Given the description of an element on the screen output the (x, y) to click on. 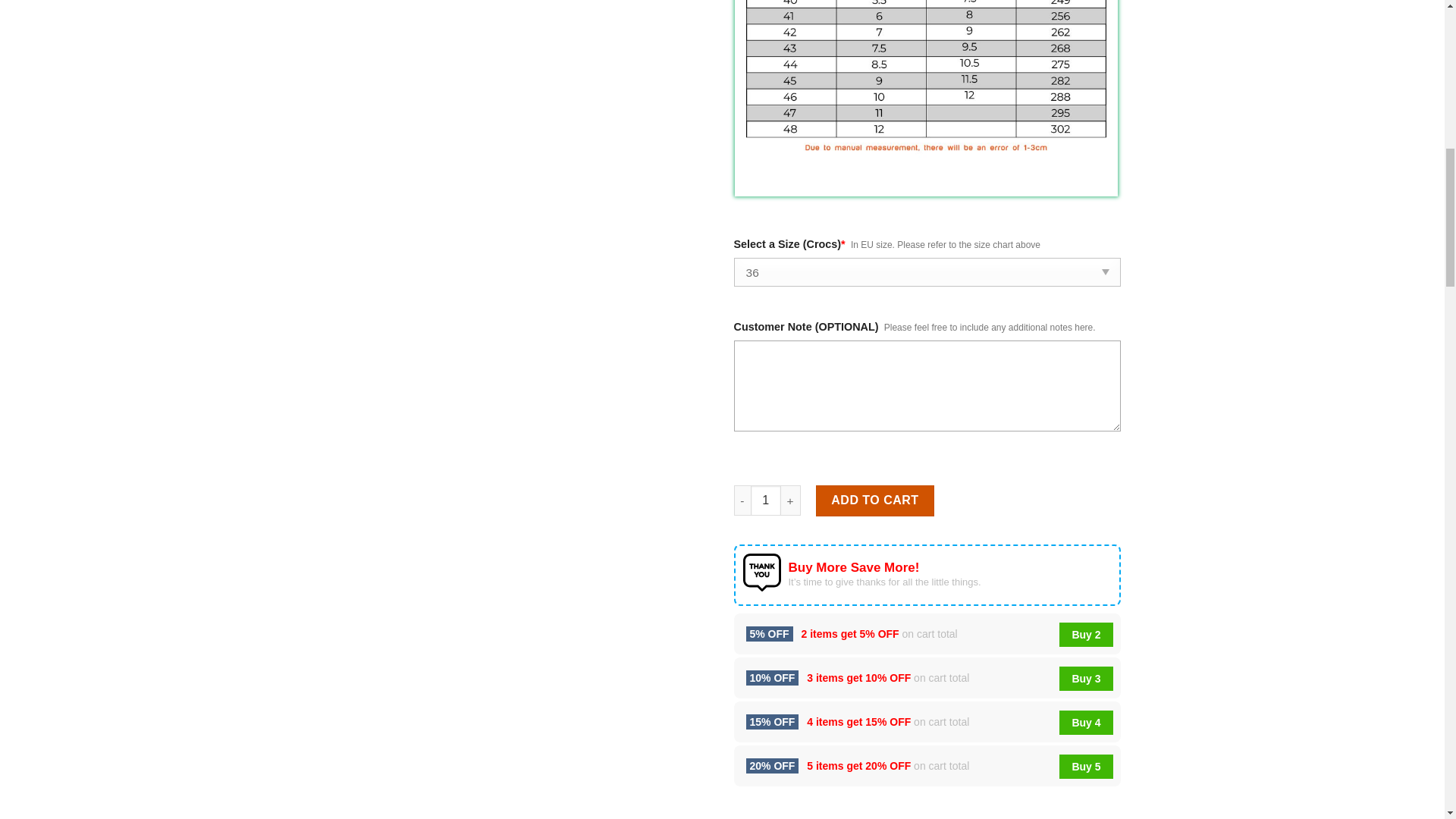
Qty (765, 500)
- (742, 500)
1 (765, 500)
